Given the description of an element on the screen output the (x, y) to click on. 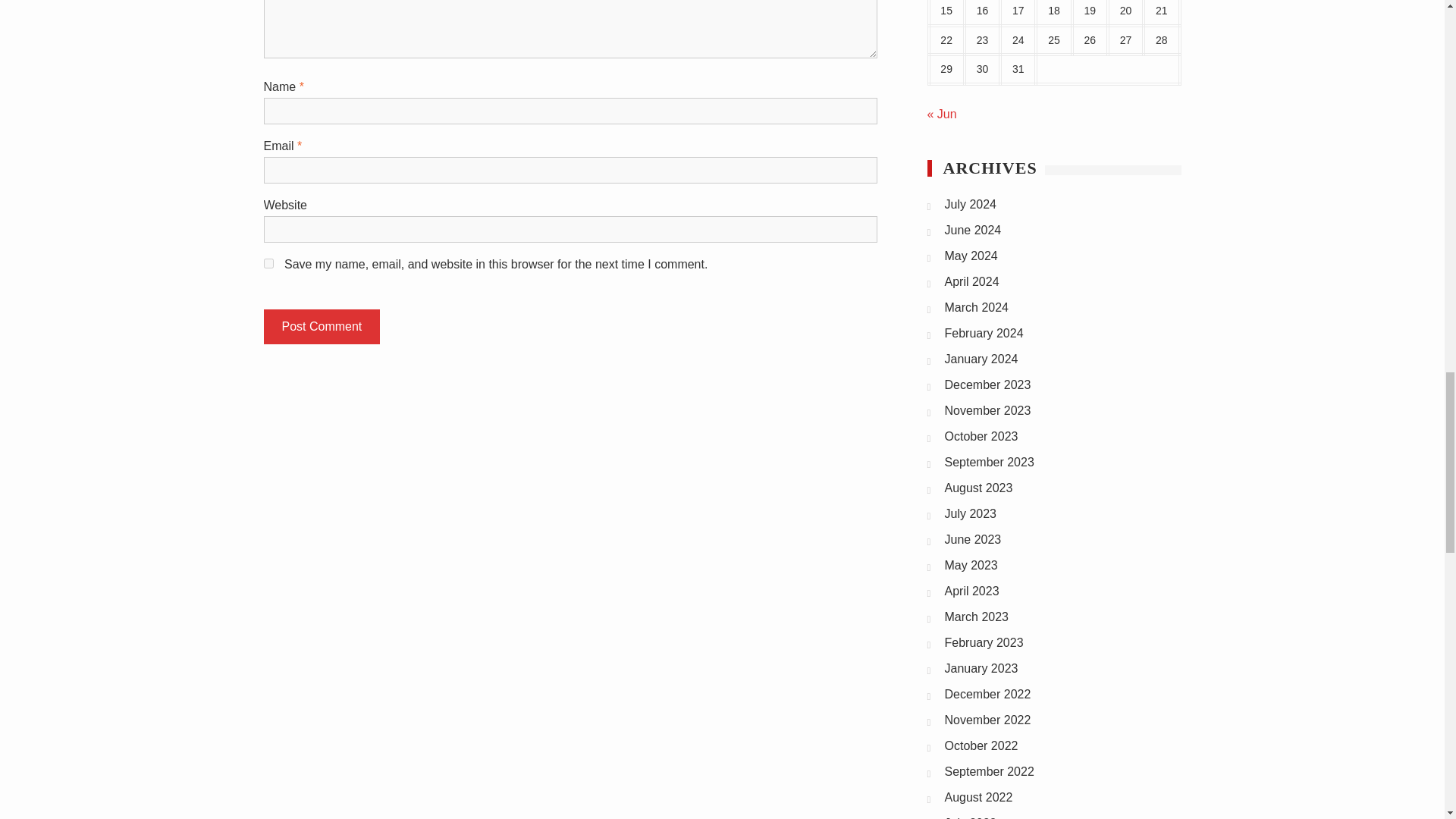
Post Comment (321, 326)
Post Comment (321, 326)
yes (268, 263)
